Given the description of an element on the screen output the (x, y) to click on. 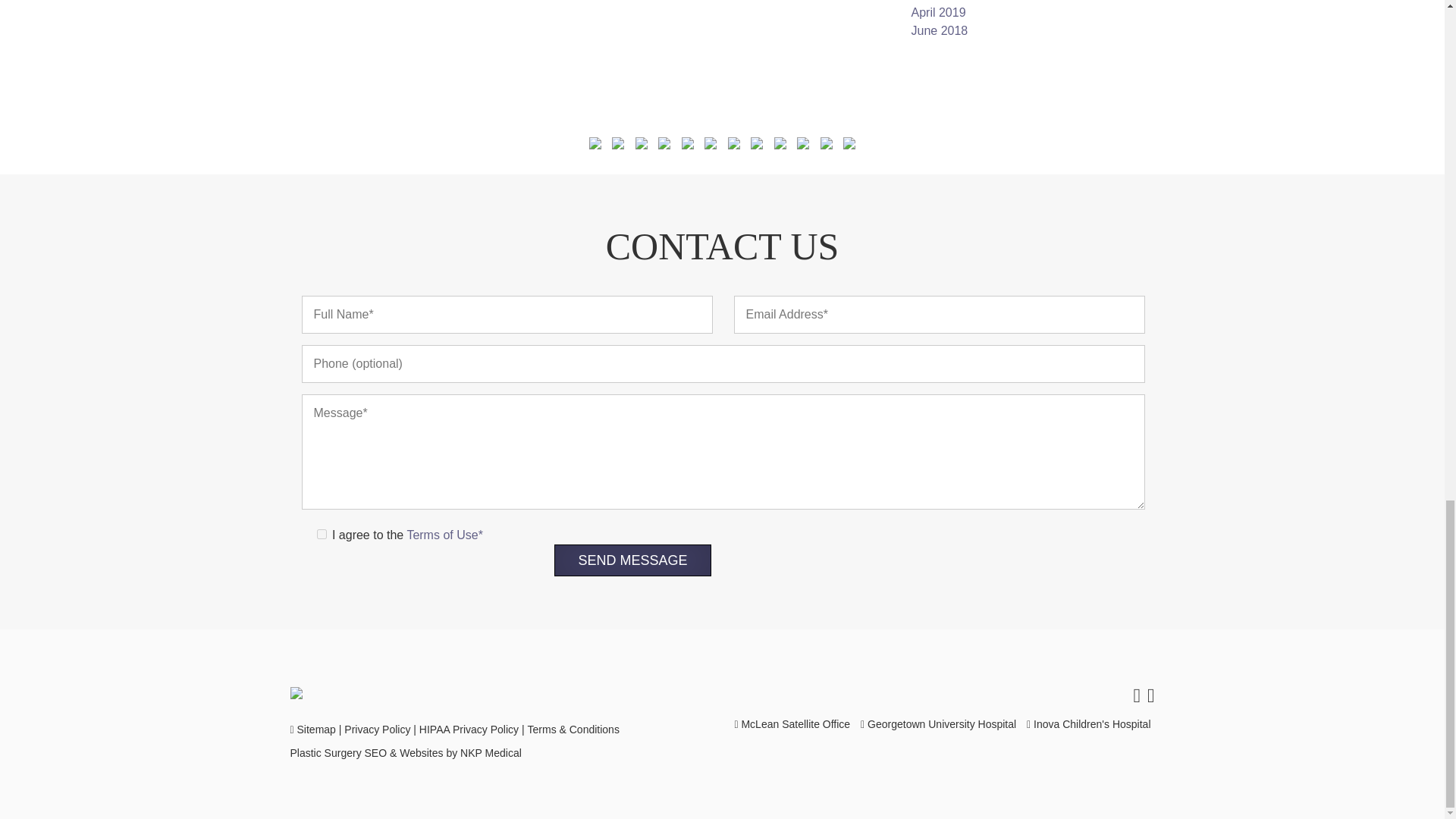
Send Message (632, 560)
1 (321, 533)
